Given the description of an element on the screen output the (x, y) to click on. 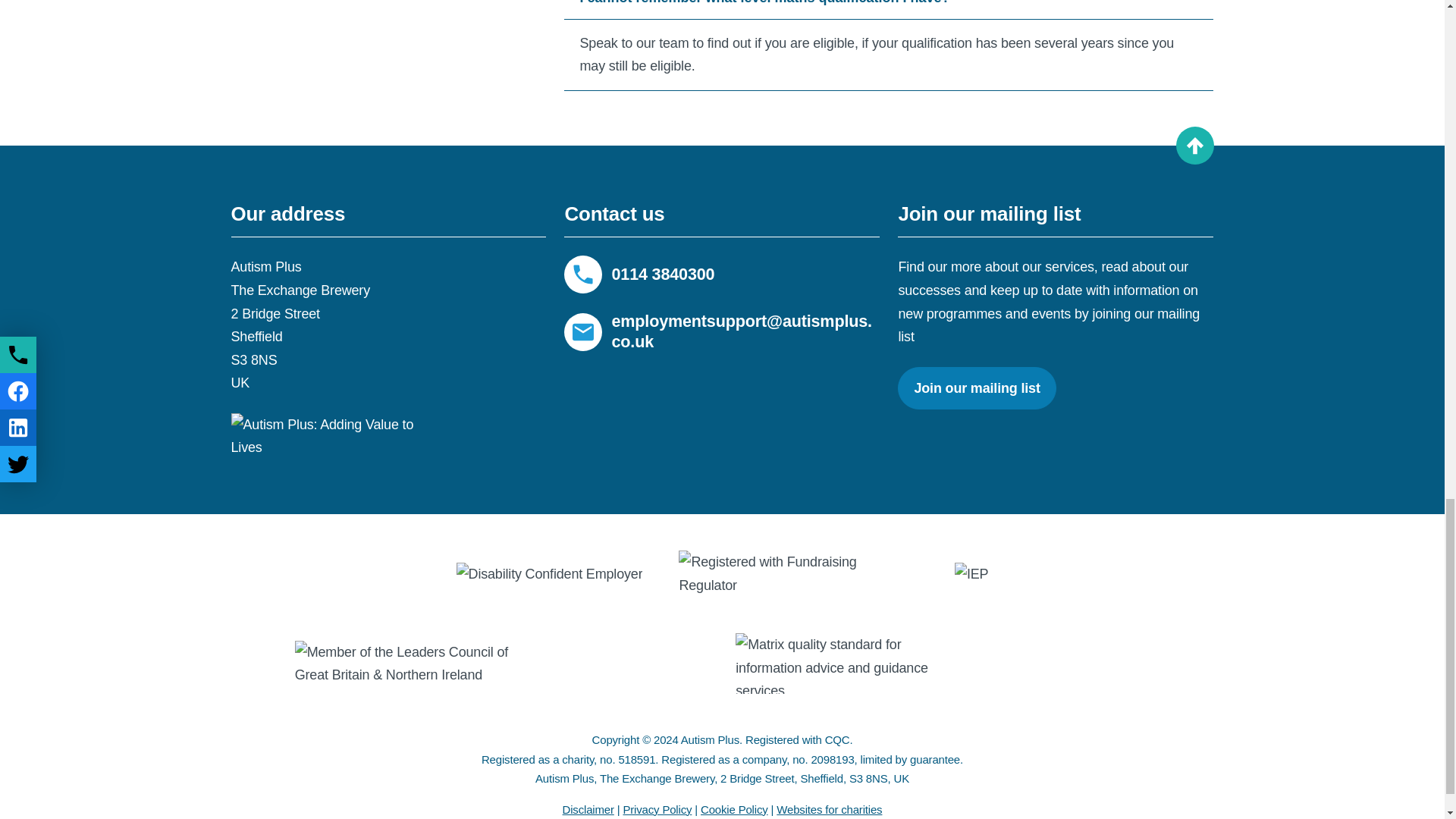
I cannot remember what level maths qualification I have? (888, 9)
